Given the description of an element on the screen output the (x, y) to click on. 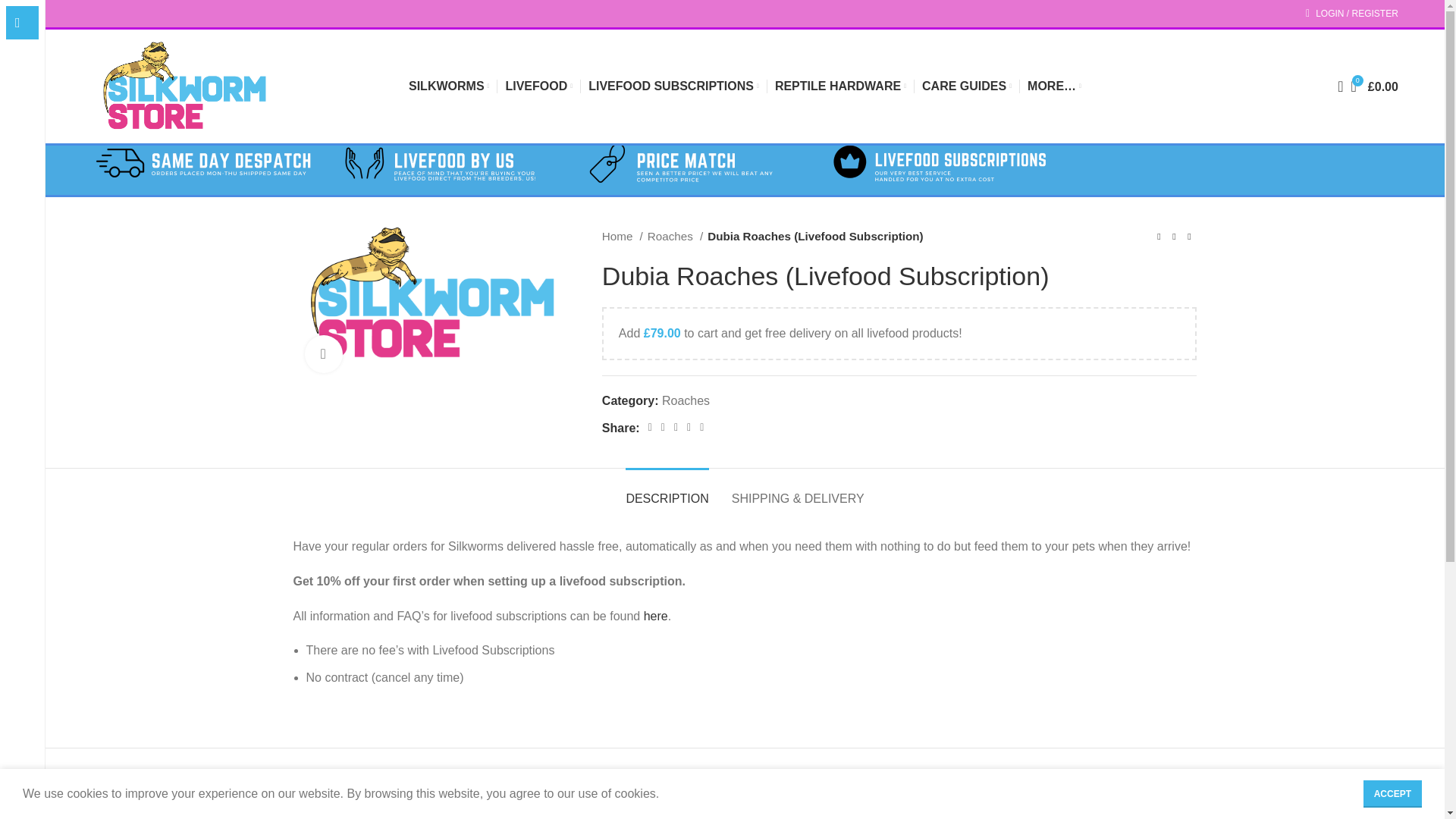
Log in (1272, 249)
SILKWORMS (449, 86)
